Given the description of an element on the screen output the (x, y) to click on. 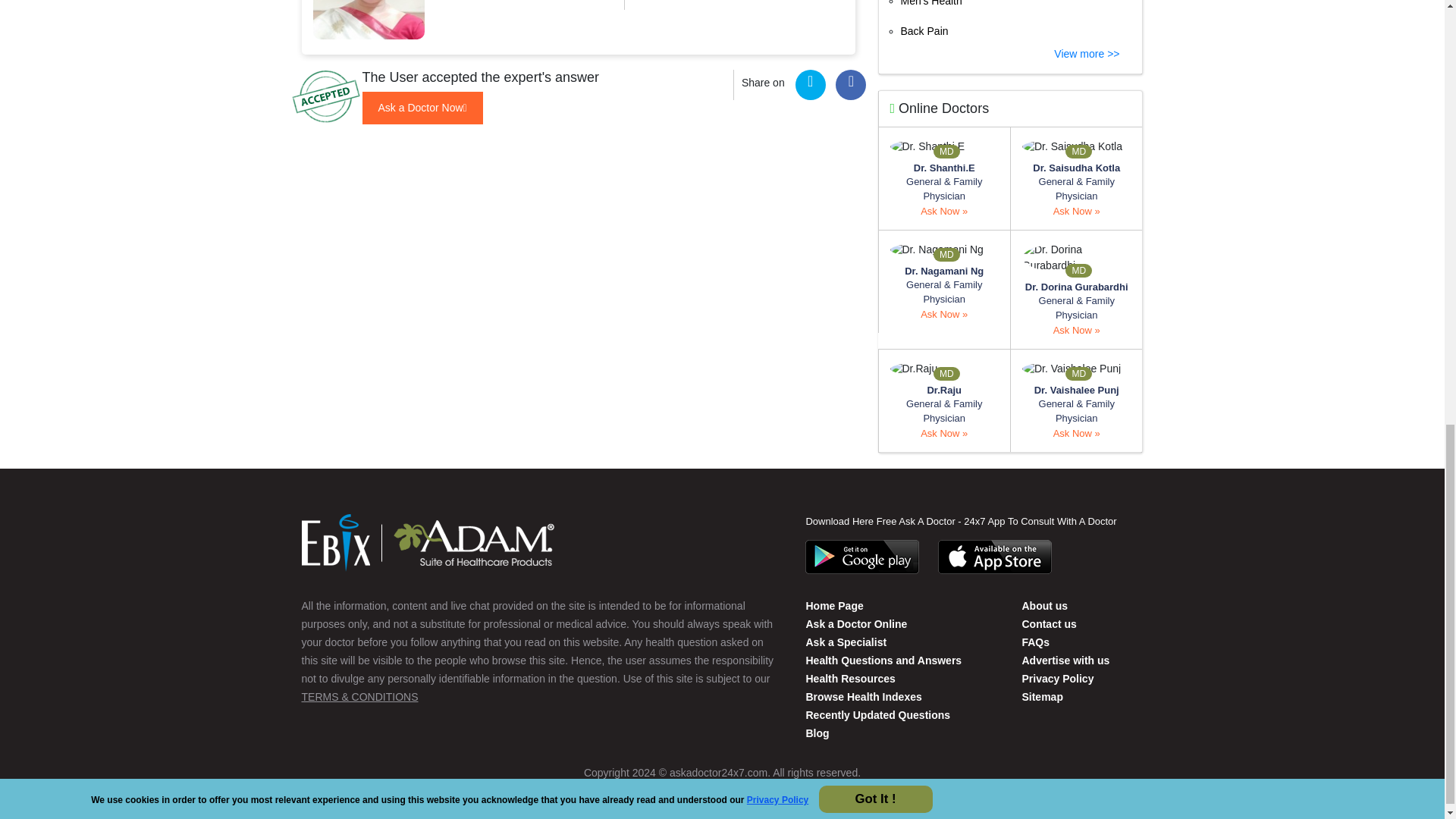
Ask a Specialist (845, 642)
Contact us (1044, 605)
Home Page (834, 605)
Health Blog (816, 733)
Sitemap (1042, 696)
Recently Updated Questions (877, 715)
Health Questions and Answers (882, 660)
Privacy Policy (1057, 678)
FAQs (1035, 642)
Browse Health Indexes (863, 696)
Health Resources (850, 678)
Advertise with us (1065, 660)
Contact us (1048, 623)
Ask a Doctor Online (856, 623)
